Given the description of an element on the screen output the (x, y) to click on. 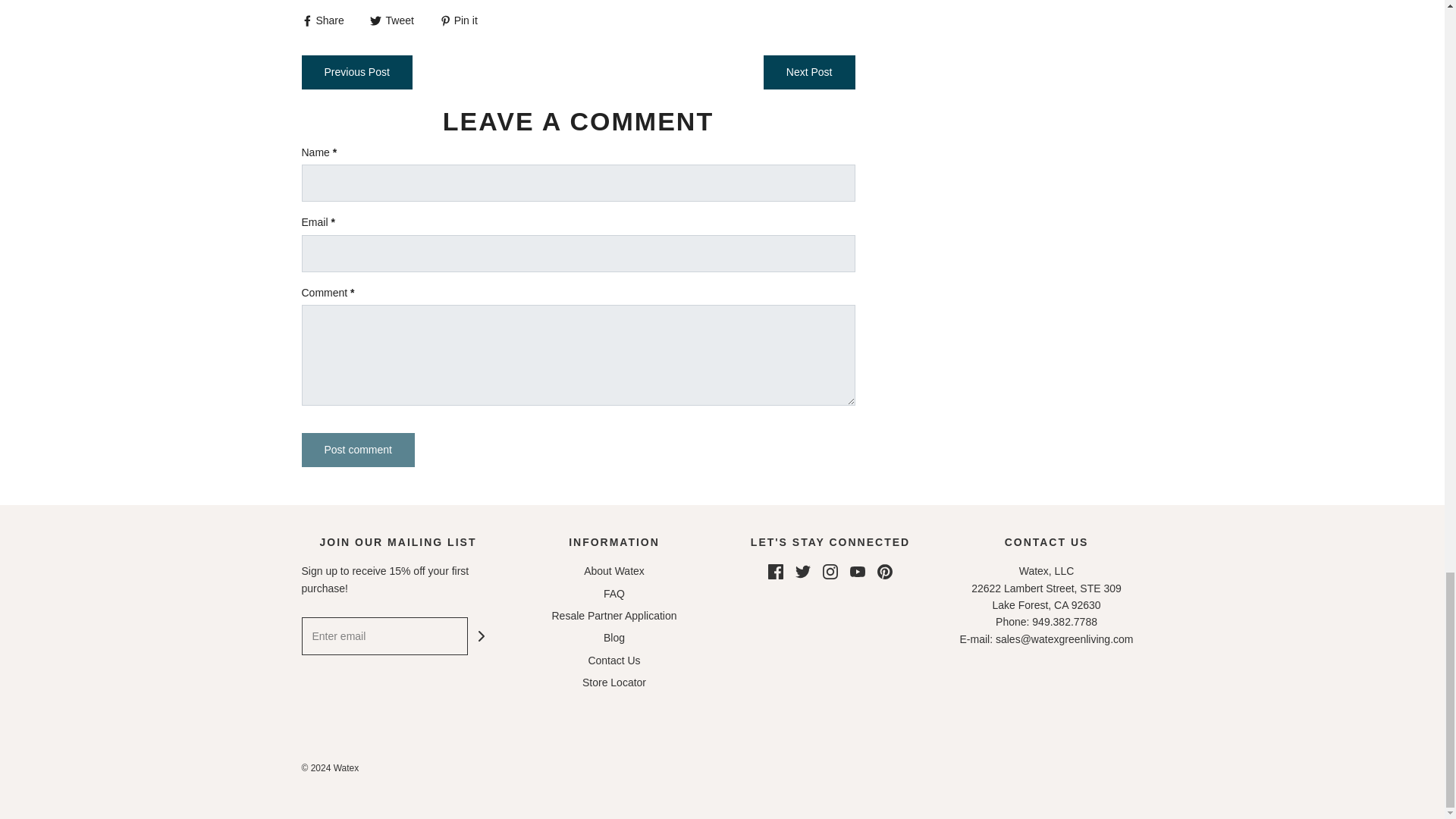
Facebook icon (775, 571)
Pinterest icon (884, 571)
Twitter icon (802, 571)
YouTube icon (857, 571)
Instagram icon (830, 571)
Post comment (357, 449)
